Given the description of an element on the screen output the (x, y) to click on. 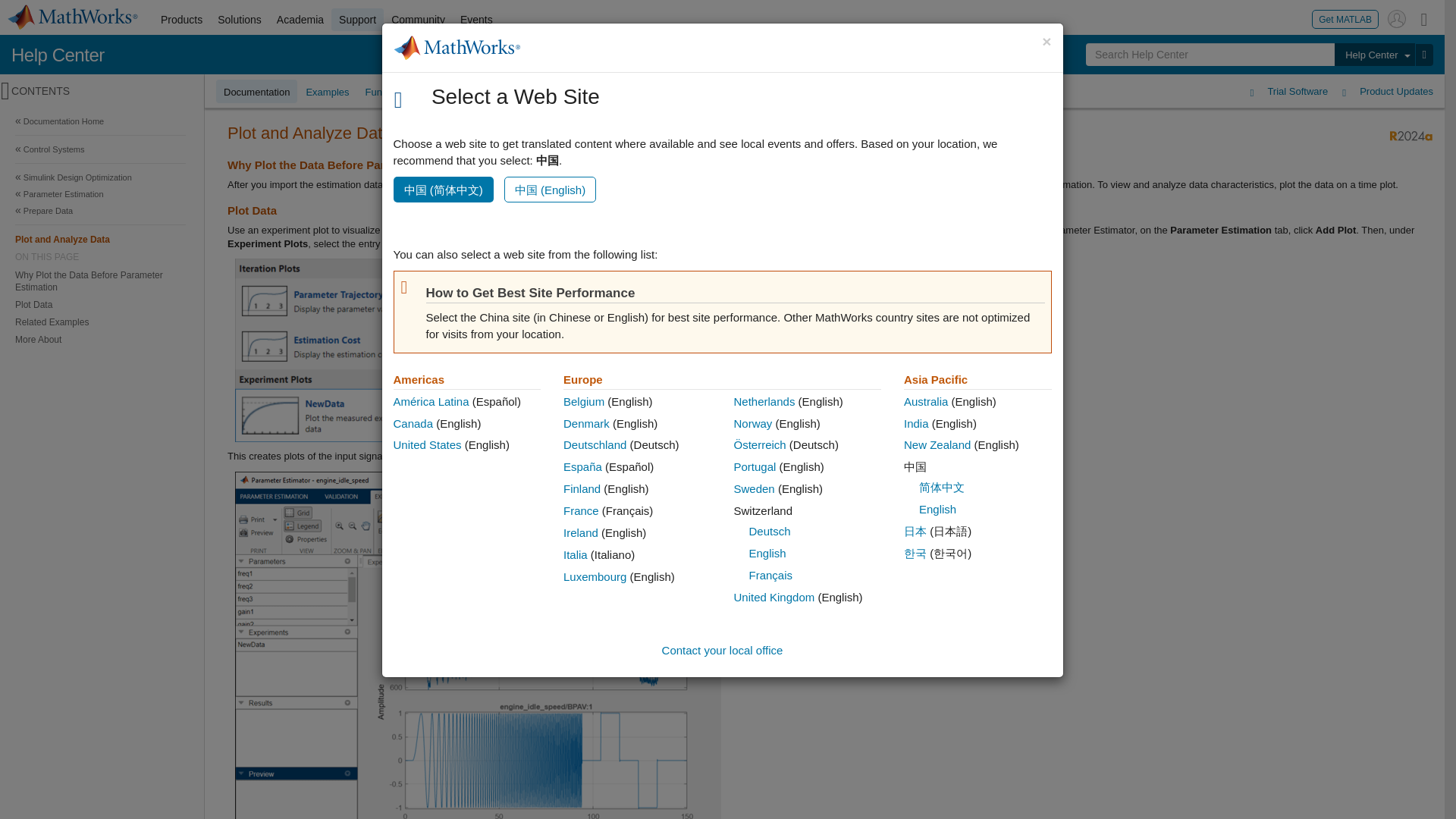
Products (180, 19)
ON THIS PAGE (100, 256)
Matrix Menu (1423, 18)
Community (418, 19)
Sign In to Your MathWorks Account (1396, 18)
Events (476, 19)
Academia (300, 19)
Plot and Analyze Data (100, 239)
Get MATLAB (1344, 18)
Solutions (239, 19)
Support (357, 19)
